Given the description of an element on the screen output the (x, y) to click on. 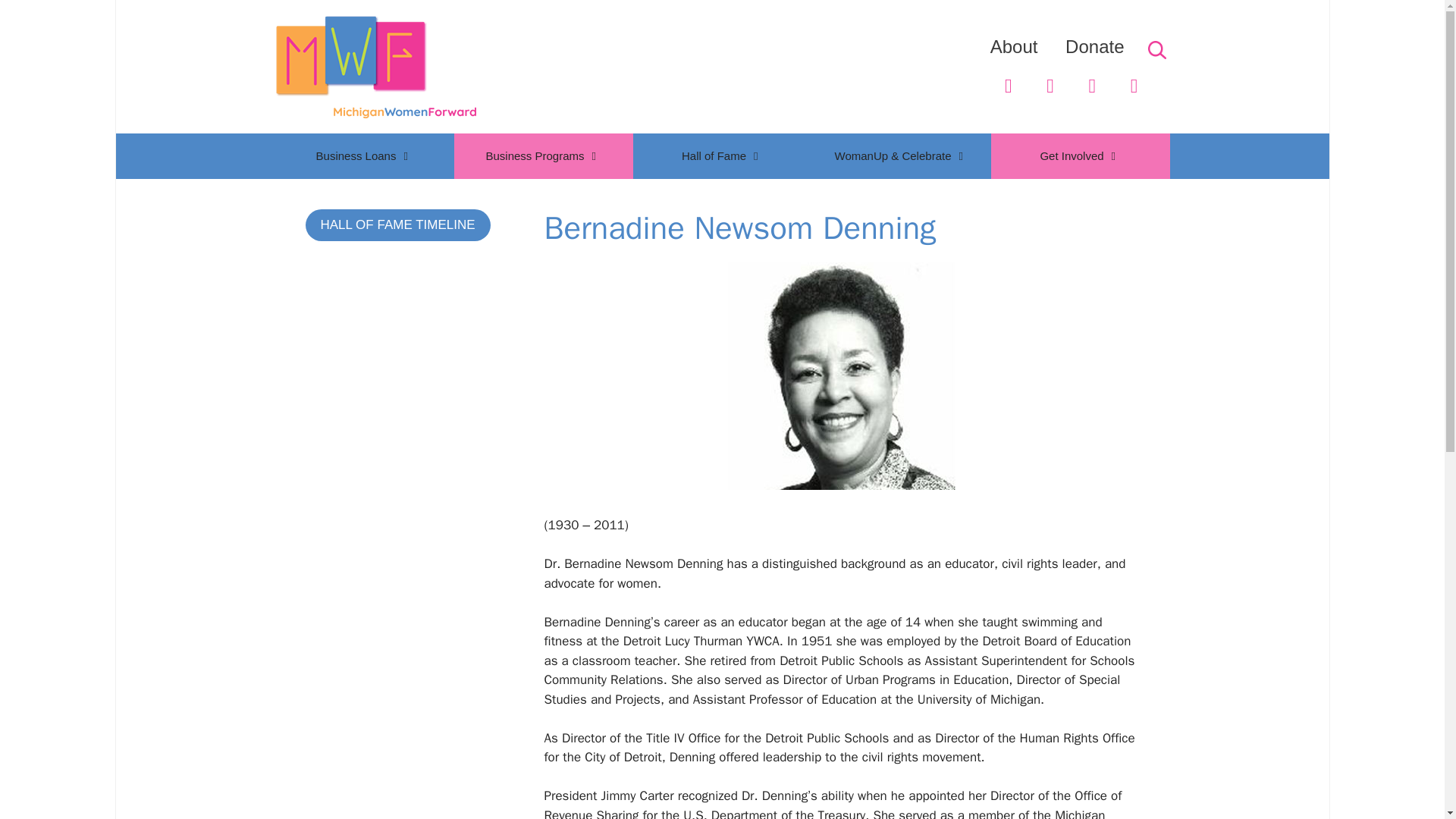
Twitter (1008, 85)
Search for: (1155, 49)
Hall of Fame (720, 156)
Business Loans (363, 156)
HALL OF FAME TIMELINE (396, 224)
Get Involved (1079, 156)
Instagram (1133, 85)
Michigan Women Forward (375, 65)
Michigan Women Forward (375, 66)
Business Programs (541, 156)
About (1014, 46)
Facebook (1049, 85)
Search (42, 16)
LinkedIn (1091, 85)
Donate (1094, 46)
